Given the description of an element on the screen output the (x, y) to click on. 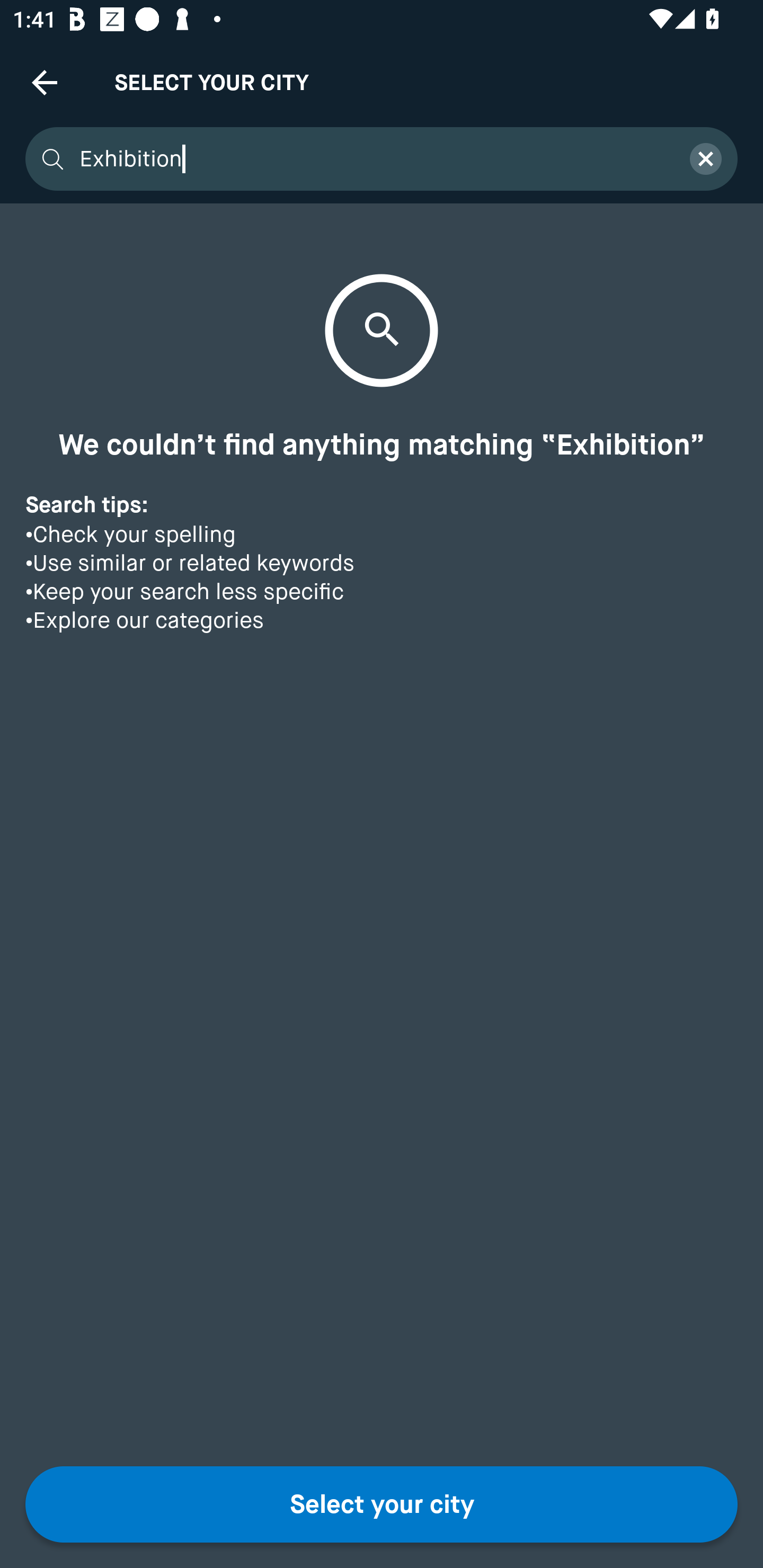
Navigate up (44, 82)
Exhibition (373, 159)
Select your city (381, 1504)
